Given the description of an element on the screen output the (x, y) to click on. 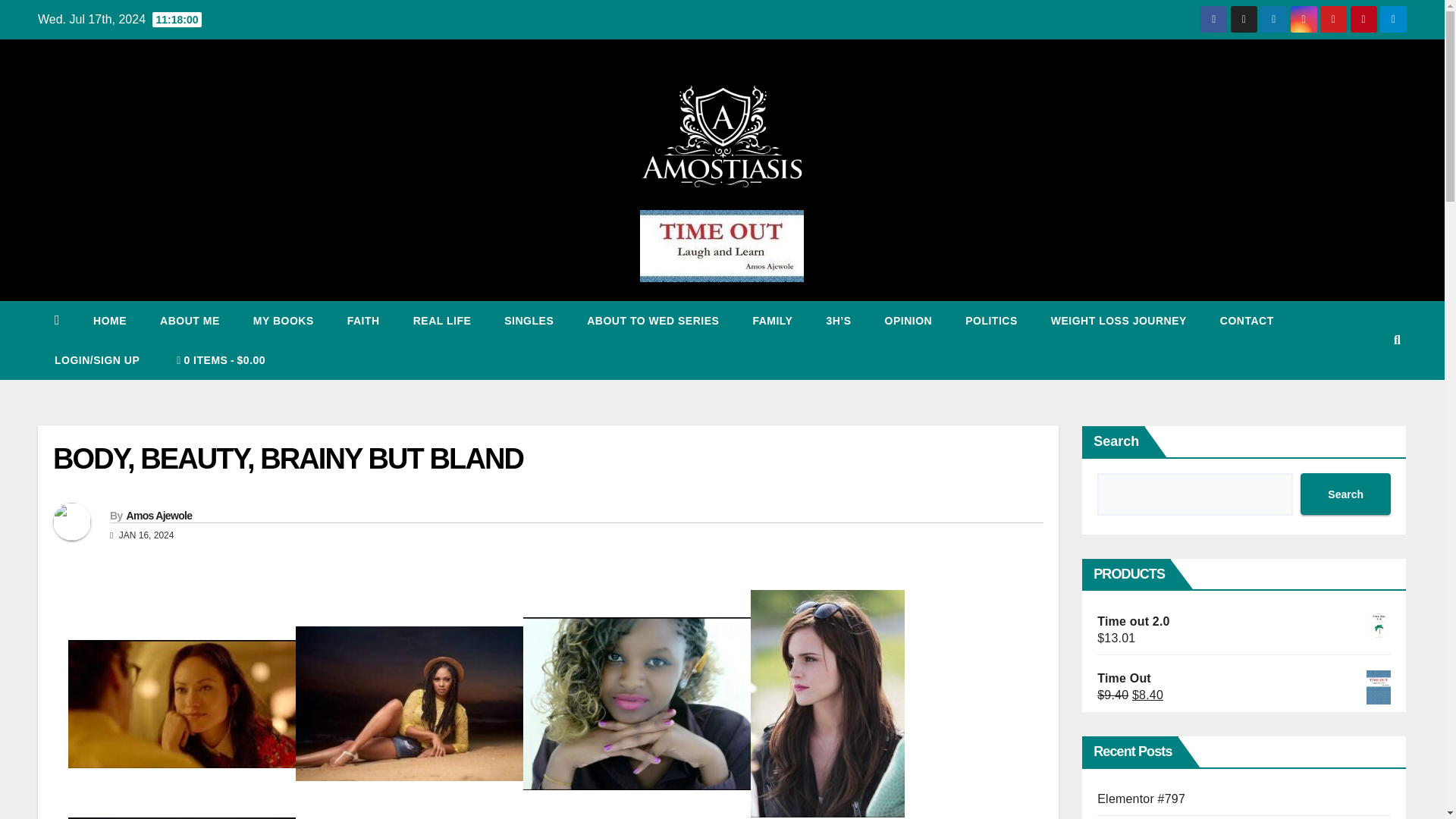
BODY, BEAUTY, BRAINY BUT BLAND (287, 459)
CONTACT (1247, 320)
SINGLES (528, 320)
ABOUT ME (188, 320)
FAITH (363, 320)
Contact (1247, 320)
ABOUT TO WED SERIES (652, 320)
REAL LIFE (441, 320)
FAITH (363, 320)
HOME (109, 320)
FAMILY (772, 320)
OPINION (908, 320)
HOME (109, 320)
OPINION (908, 320)
FAMILY (772, 320)
